Given the description of an element on the screen output the (x, y) to click on. 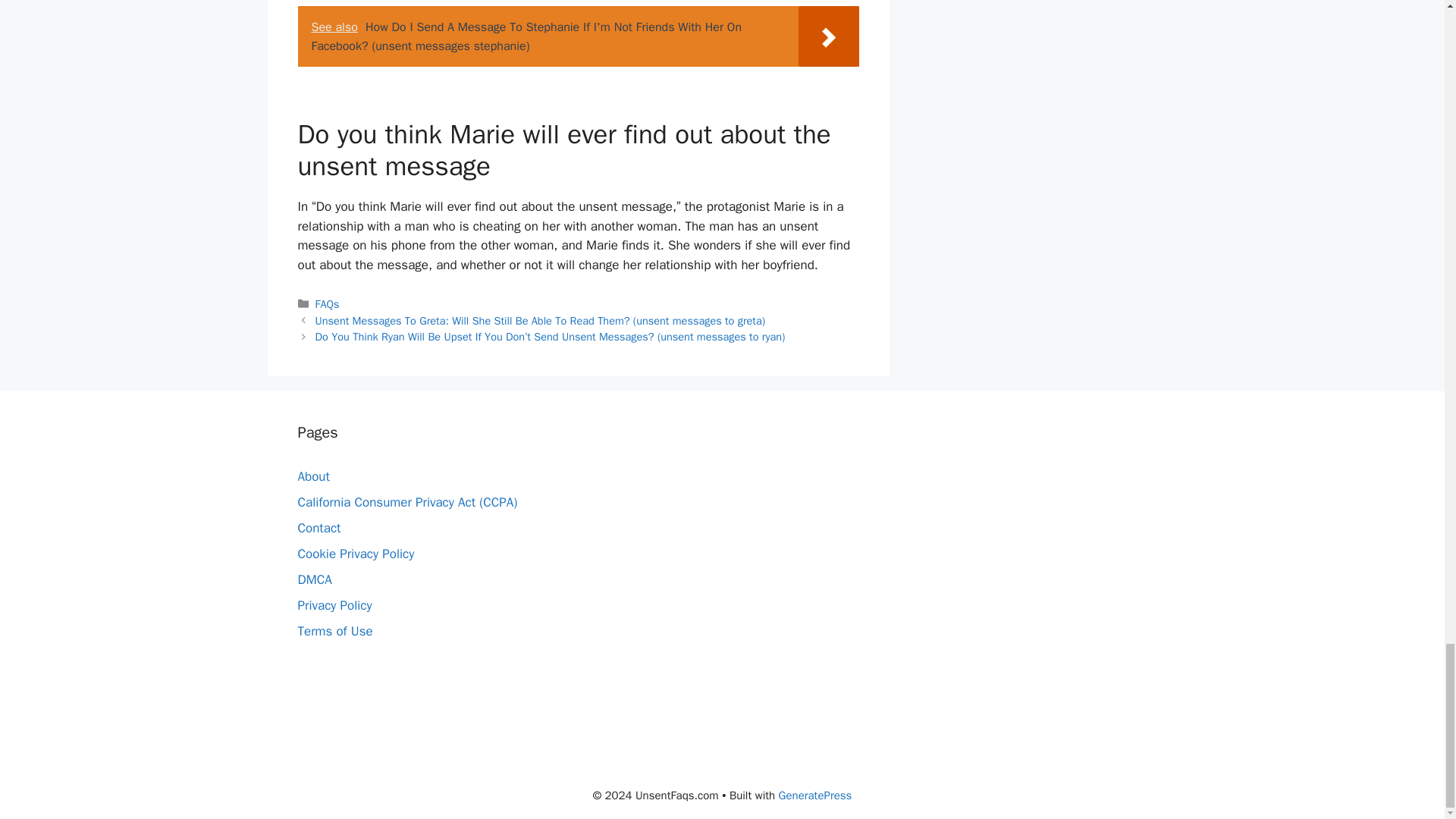
Previous (540, 320)
FAQs (327, 304)
Next (550, 336)
